Given the description of an element on the screen output the (x, y) to click on. 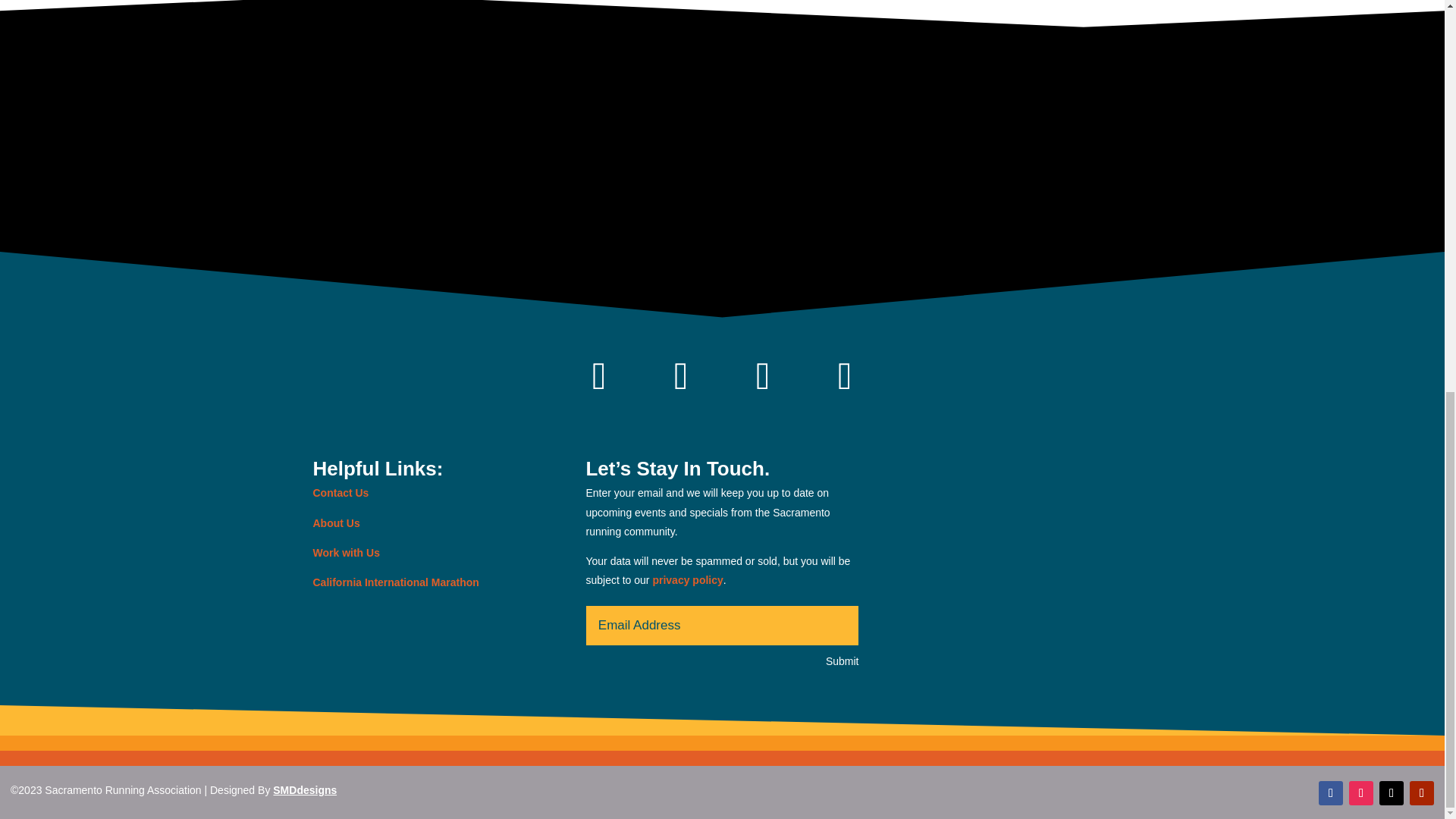
Follow on Youtube (844, 376)
Follow on Instagram (1361, 793)
Follow on Facebook (598, 376)
Follow on Instagram (681, 376)
Follow on Facebook (1330, 793)
Follow on X (762, 376)
CIM19-Full-Logo-4Color-White2 (1049, 546)
Follow on X (1390, 793)
